Given the description of an element on the screen output the (x, y) to click on. 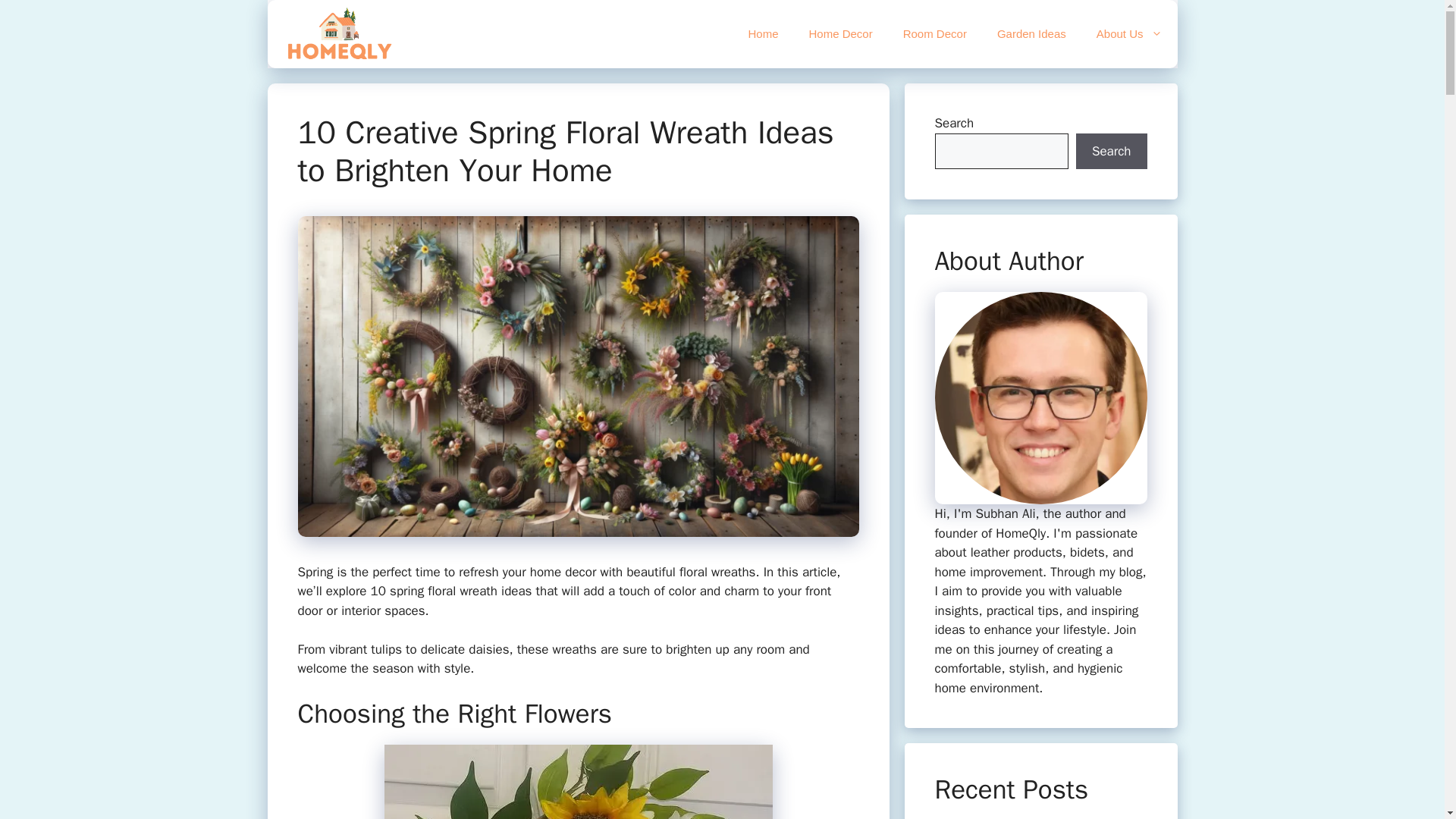
Home (762, 33)
Room Decor (934, 33)
Garden Ideas (1031, 33)
Search (1111, 151)
About Us (1129, 33)
HomeQly.com (338, 33)
Home Decor (839, 33)
